Given the description of an element on the screen output the (x, y) to click on. 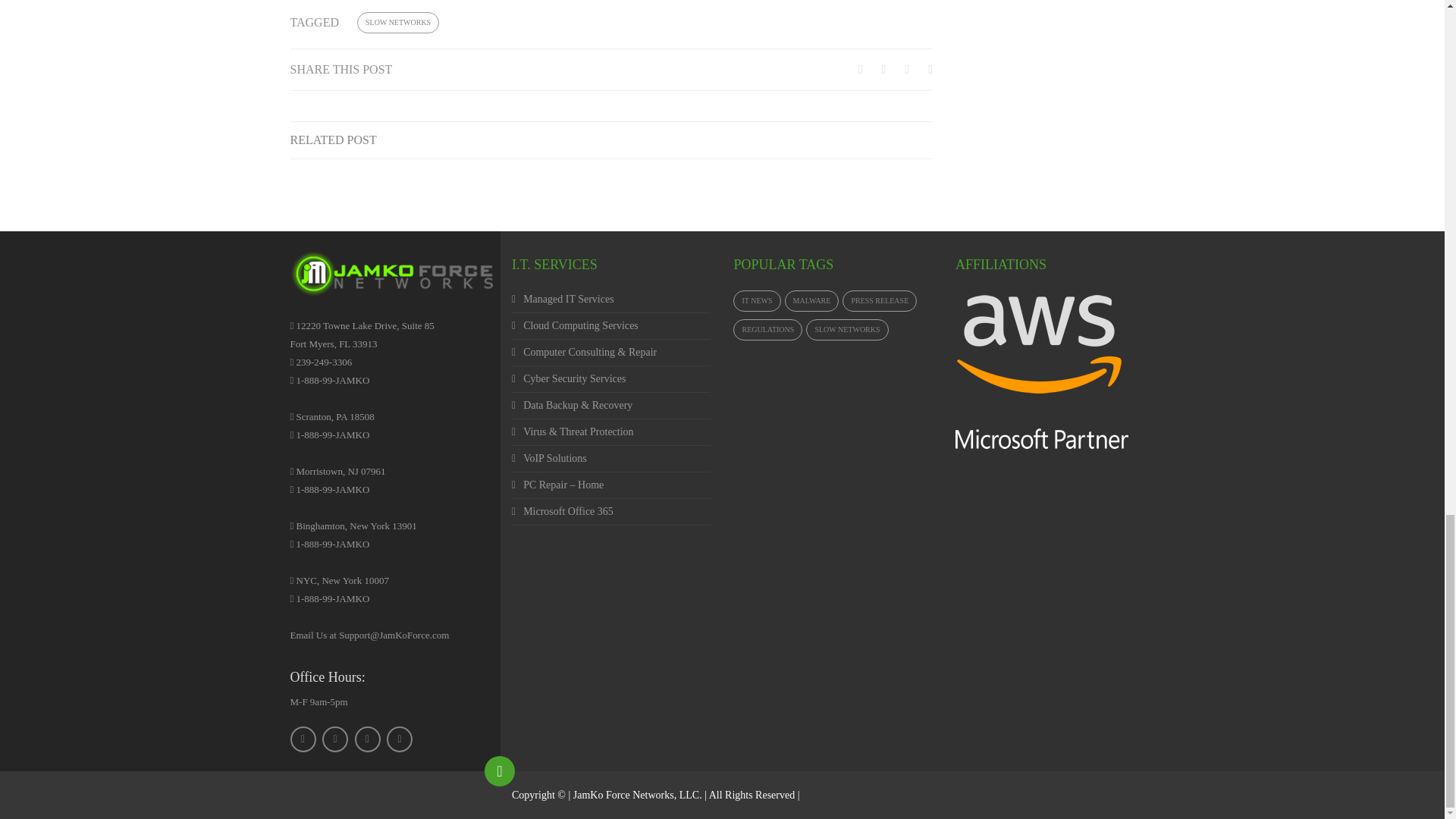
Twitter (334, 739)
Back to top (499, 770)
Facebook (302, 739)
LinkedIn (367, 739)
Email (399, 739)
